Given the description of an element on the screen output the (x, y) to click on. 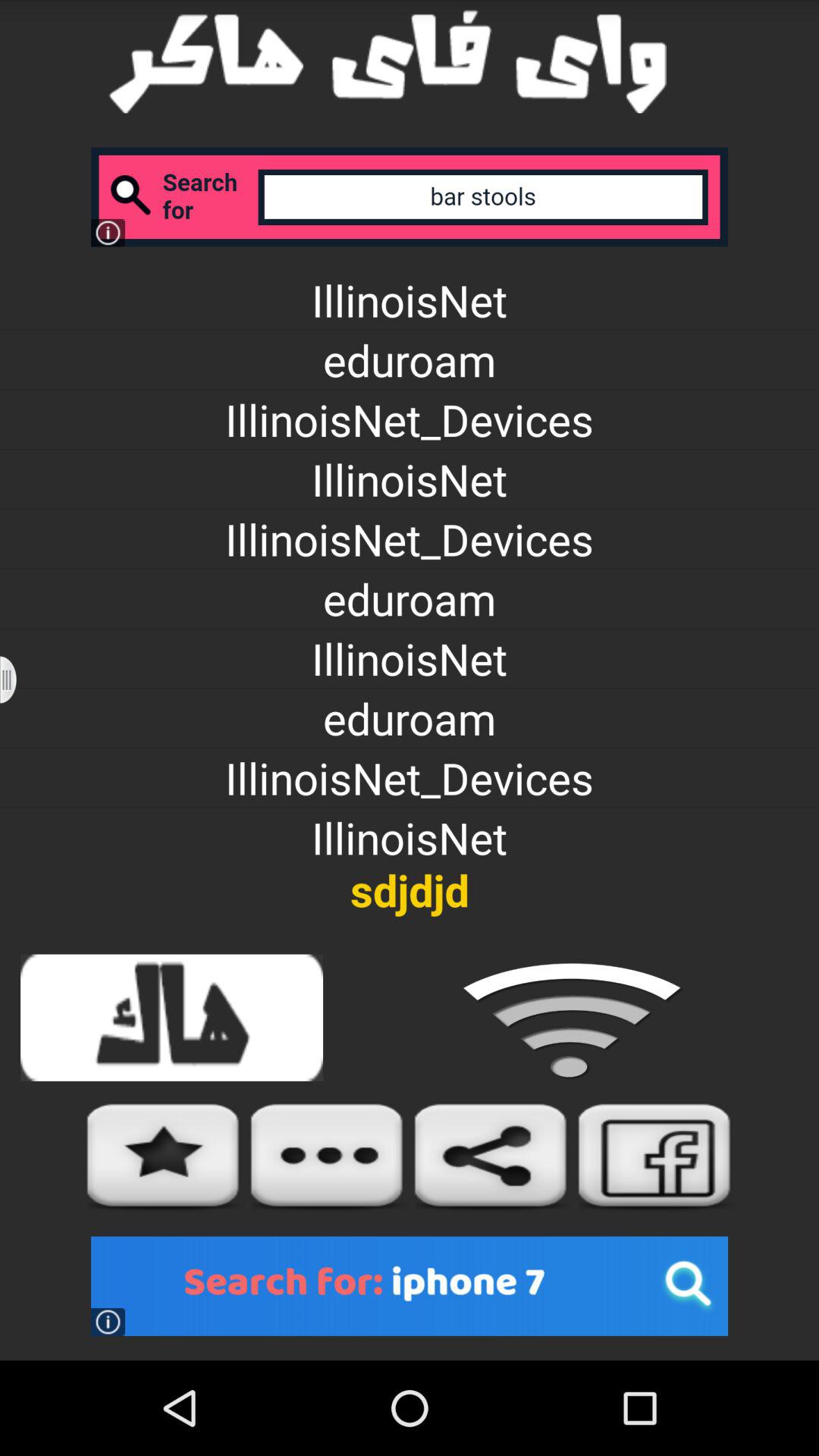
pull out options (18, 679)
